Given the description of an element on the screen output the (x, y) to click on. 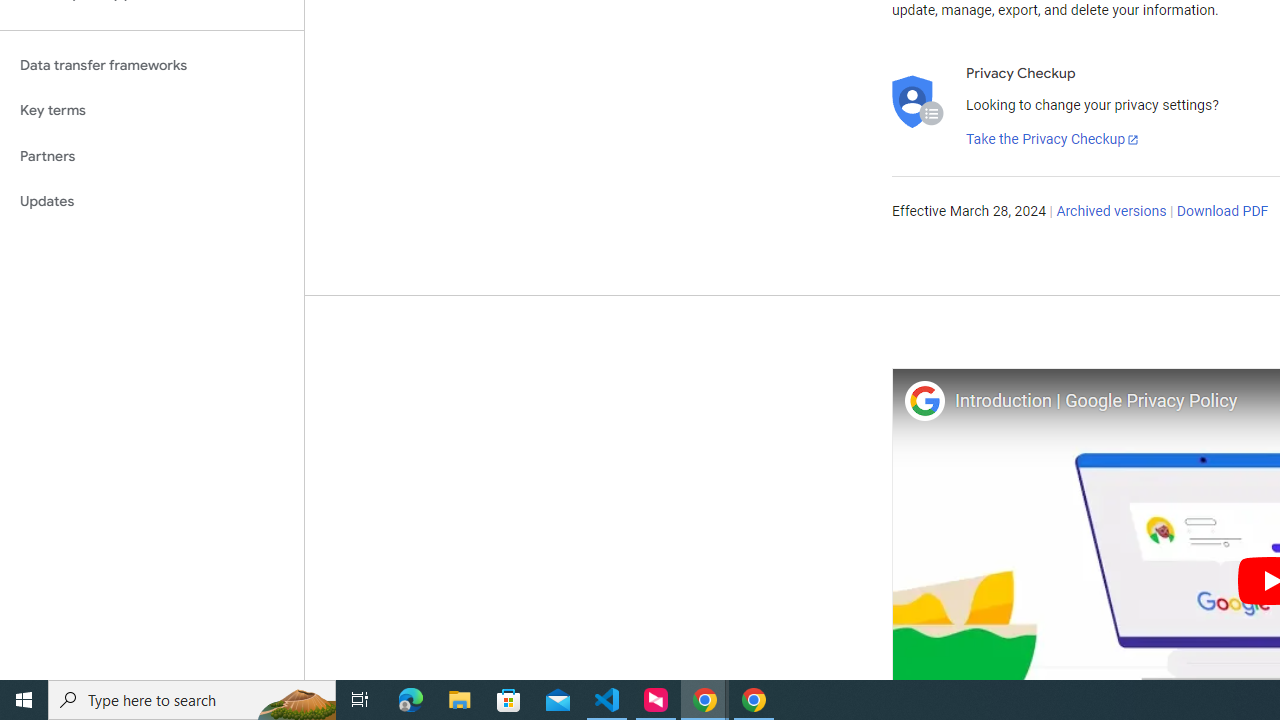
Data transfer frameworks (152, 65)
Updates (152, 201)
Download PDF (1222, 212)
Photo image of Google (924, 400)
Partners (152, 156)
Archived versions (1111, 212)
Key terms (152, 110)
Take the Privacy Checkup (1053, 140)
